Given the description of an element on the screen output the (x, y) to click on. 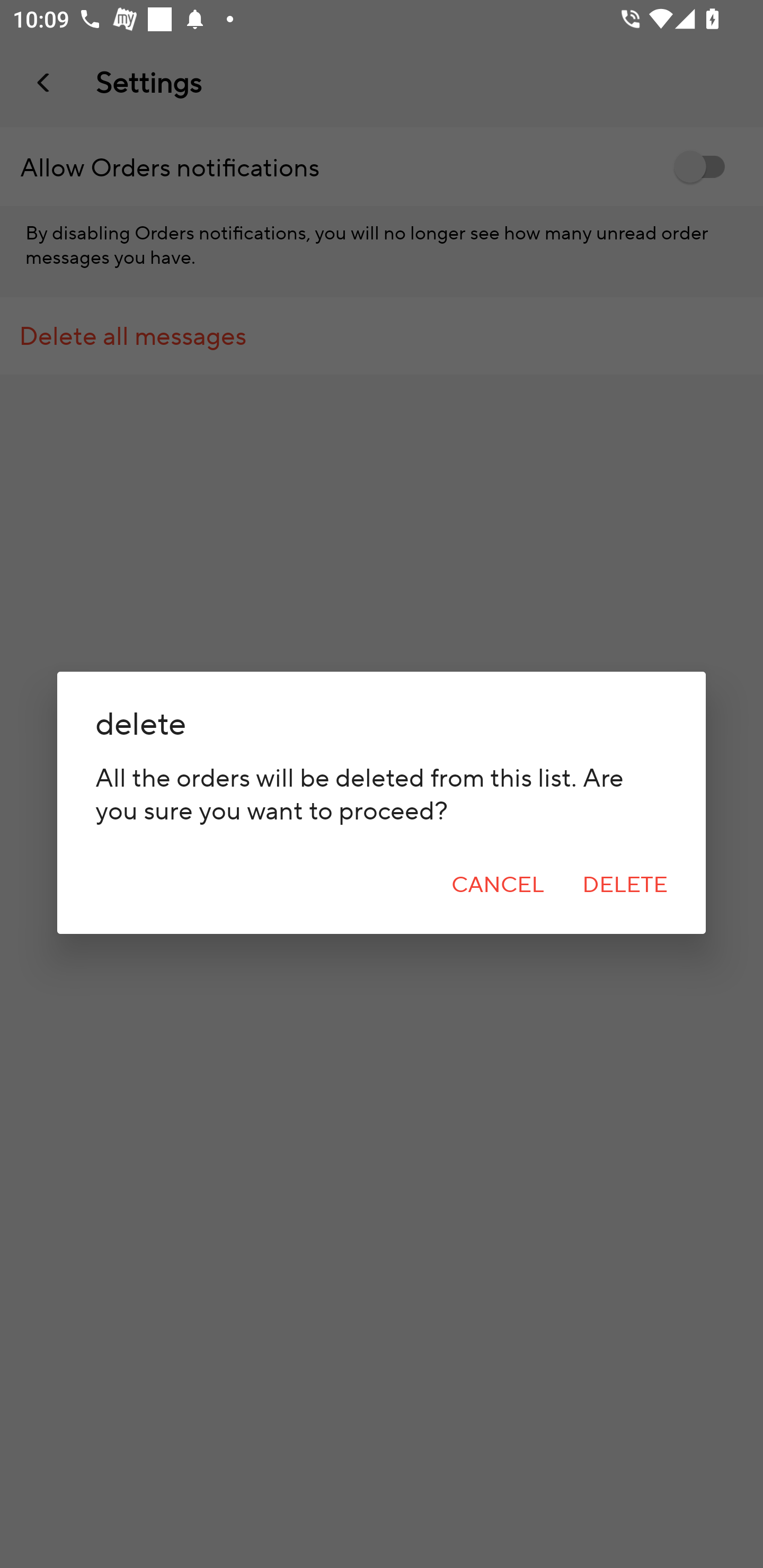
CANCEL (497, 885)
DELETE (624, 885)
